Given the description of an element on the screen output the (x, y) to click on. 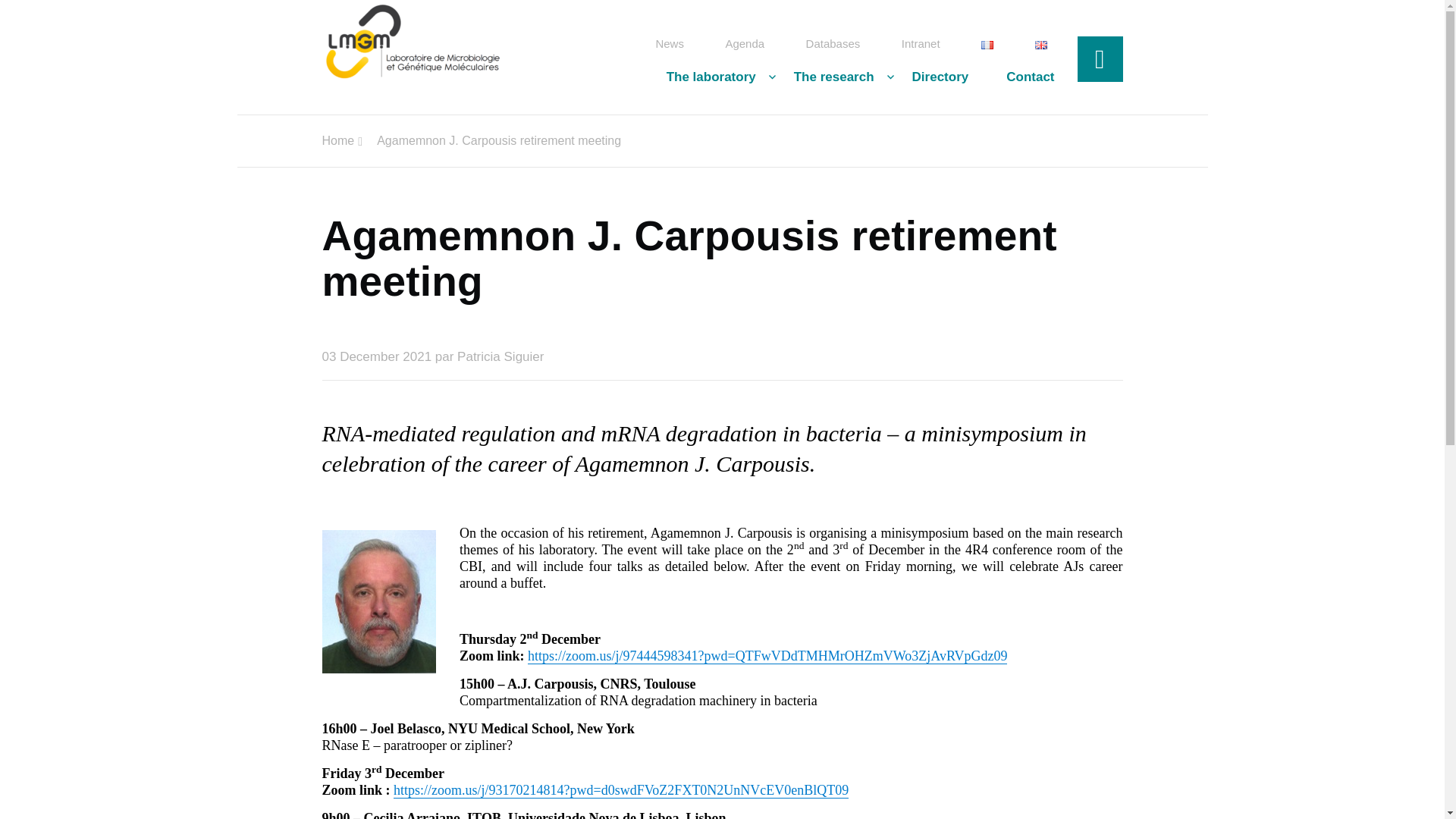
Agenda (744, 43)
The research (833, 76)
Directory (940, 76)
The laboratory (710, 76)
Intranet (920, 43)
Contact (1020, 76)
Home (337, 140)
Databases (833, 43)
News (669, 43)
